Given the description of an element on the screen output the (x, y) to click on. 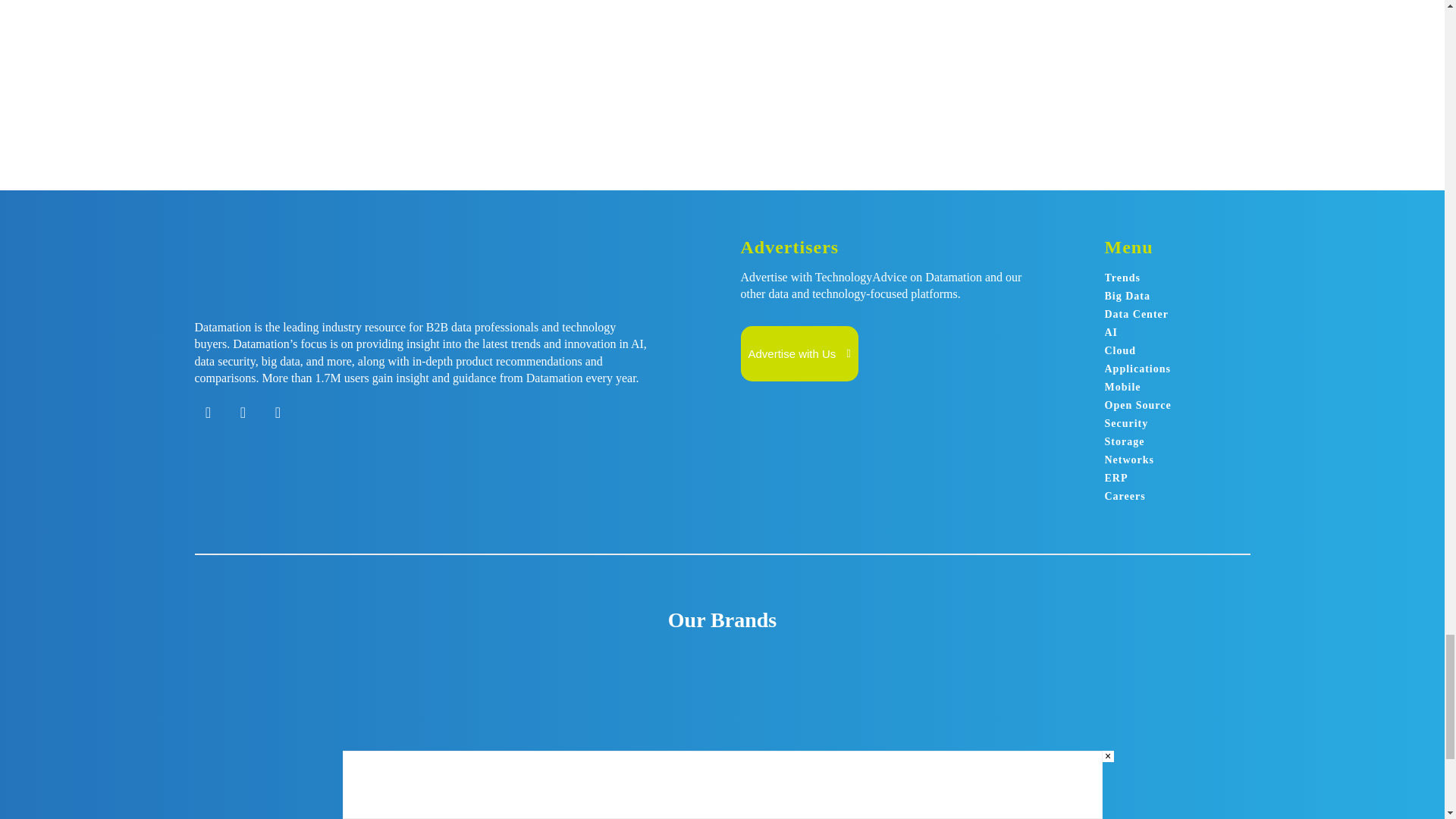
Internet of Things Trends (540, 52)
The Future of Low Code No Code (782, 52)
